Given the description of an element on the screen output the (x, y) to click on. 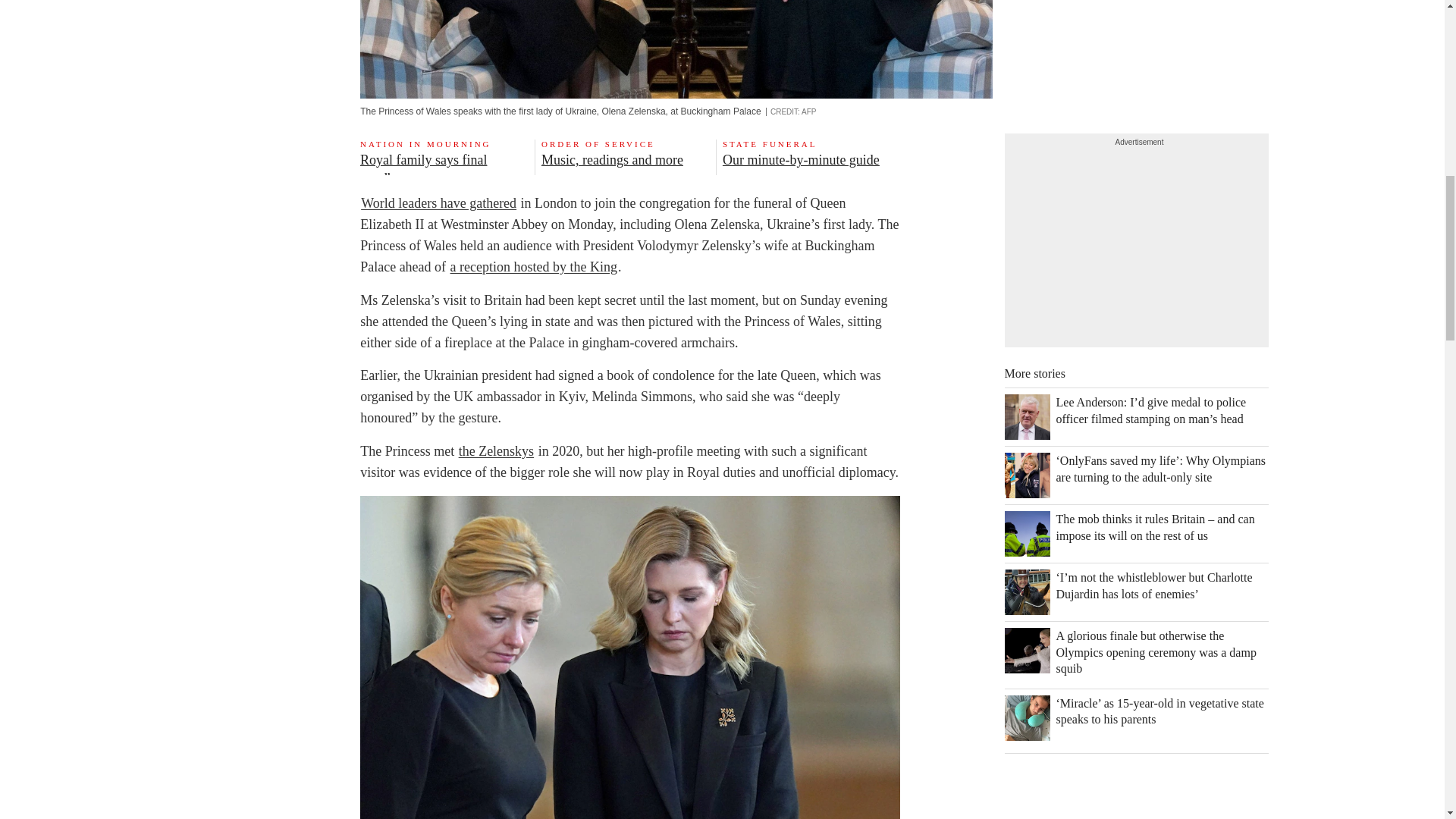
HM Queen Elizabeth II - Complete Coverage (629, 155)
